Given the description of an element on the screen output the (x, y) to click on. 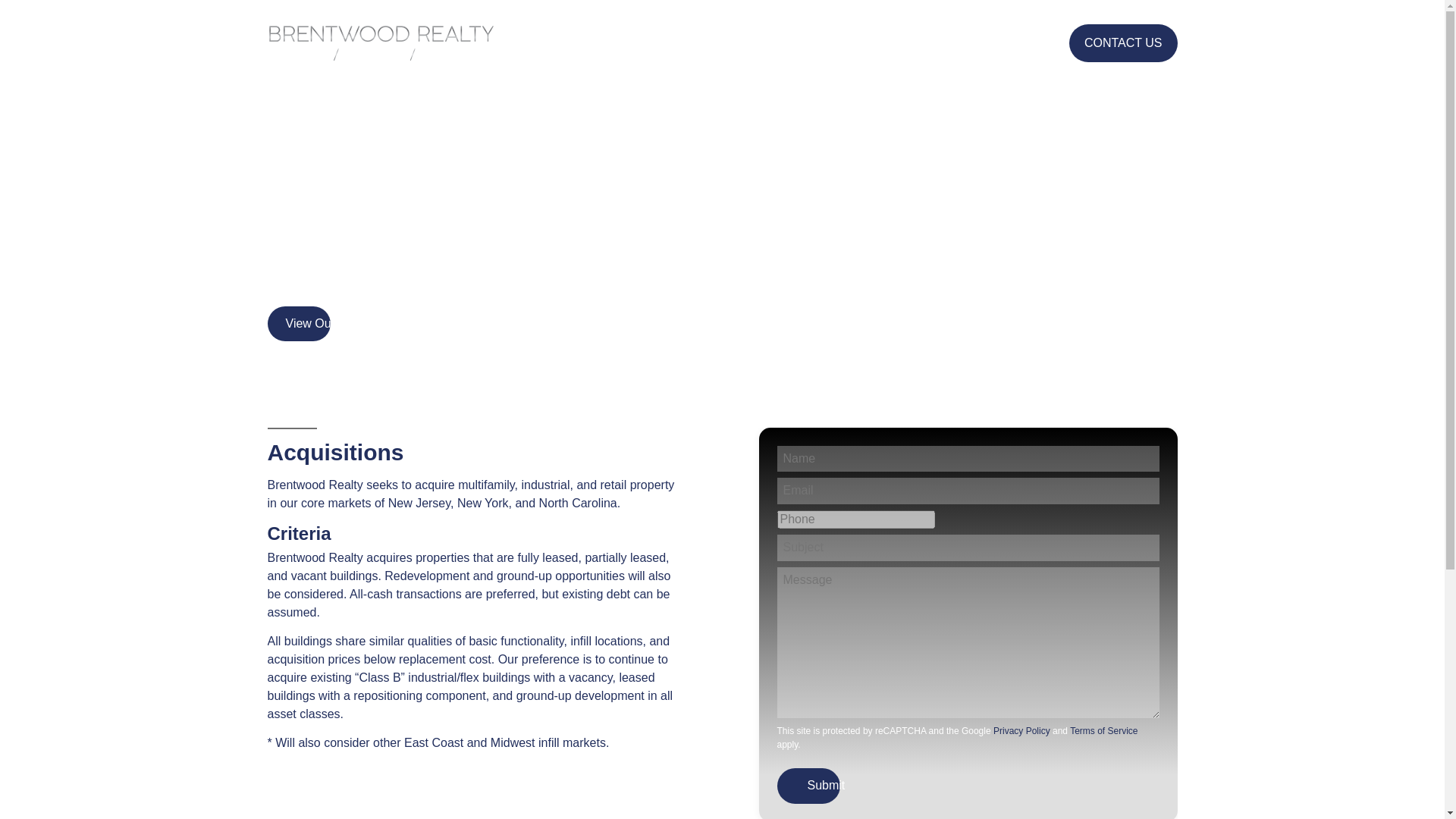
Submit (825, 785)
CONTACT US (1122, 43)
Privacy Policy (1020, 730)
View Our Properties (339, 323)
PROPERTIES (748, 43)
Terms of Service (1103, 730)
View Our Properties (339, 323)
ABOUT (670, 43)
PROPERTY MANAGEMENT (972, 43)
INVESTORS (841, 43)
